Given the description of an element on the screen output the (x, y) to click on. 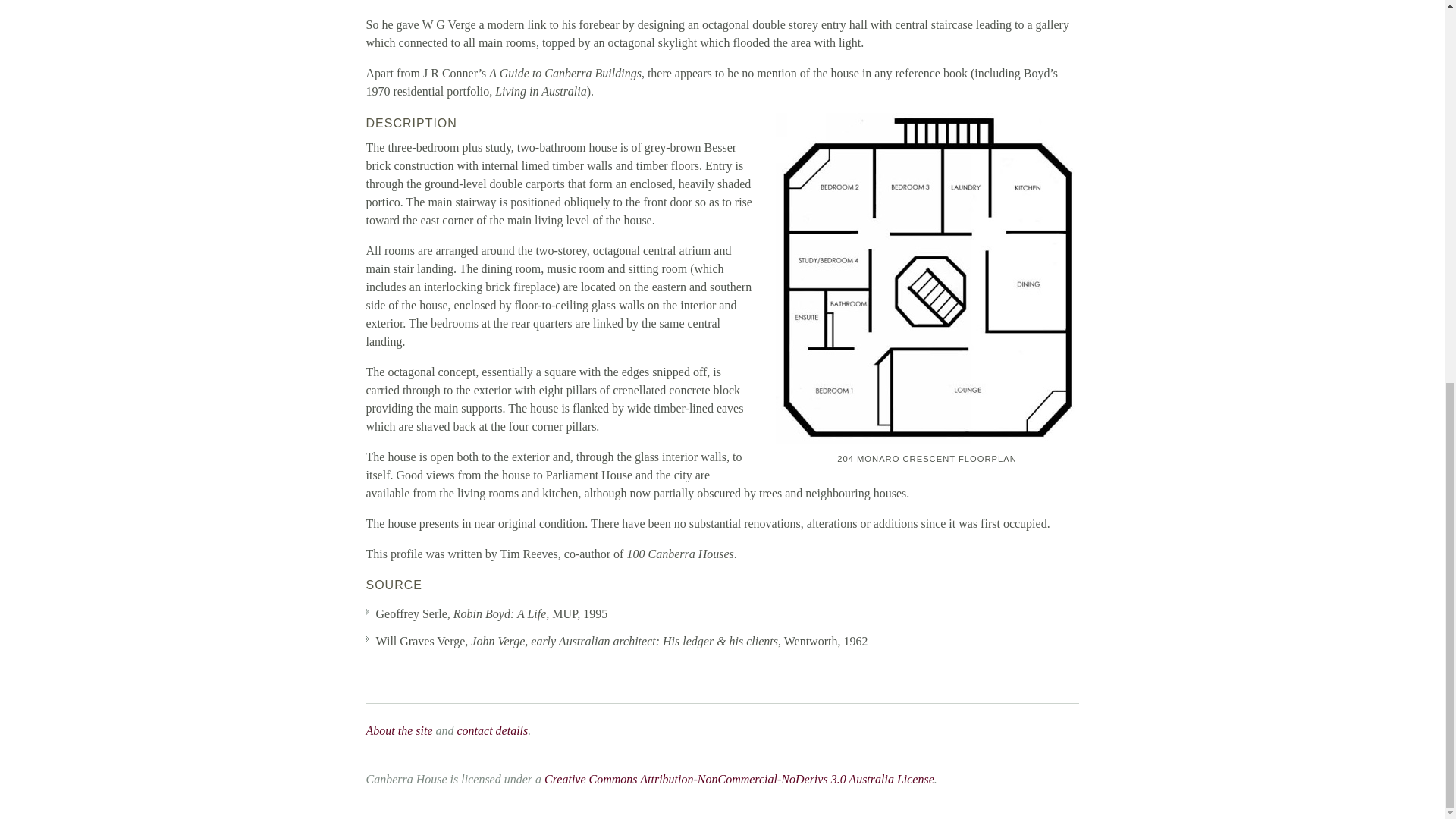
About the site (398, 730)
contact details (492, 730)
